Given the description of an element on the screen output the (x, y) to click on. 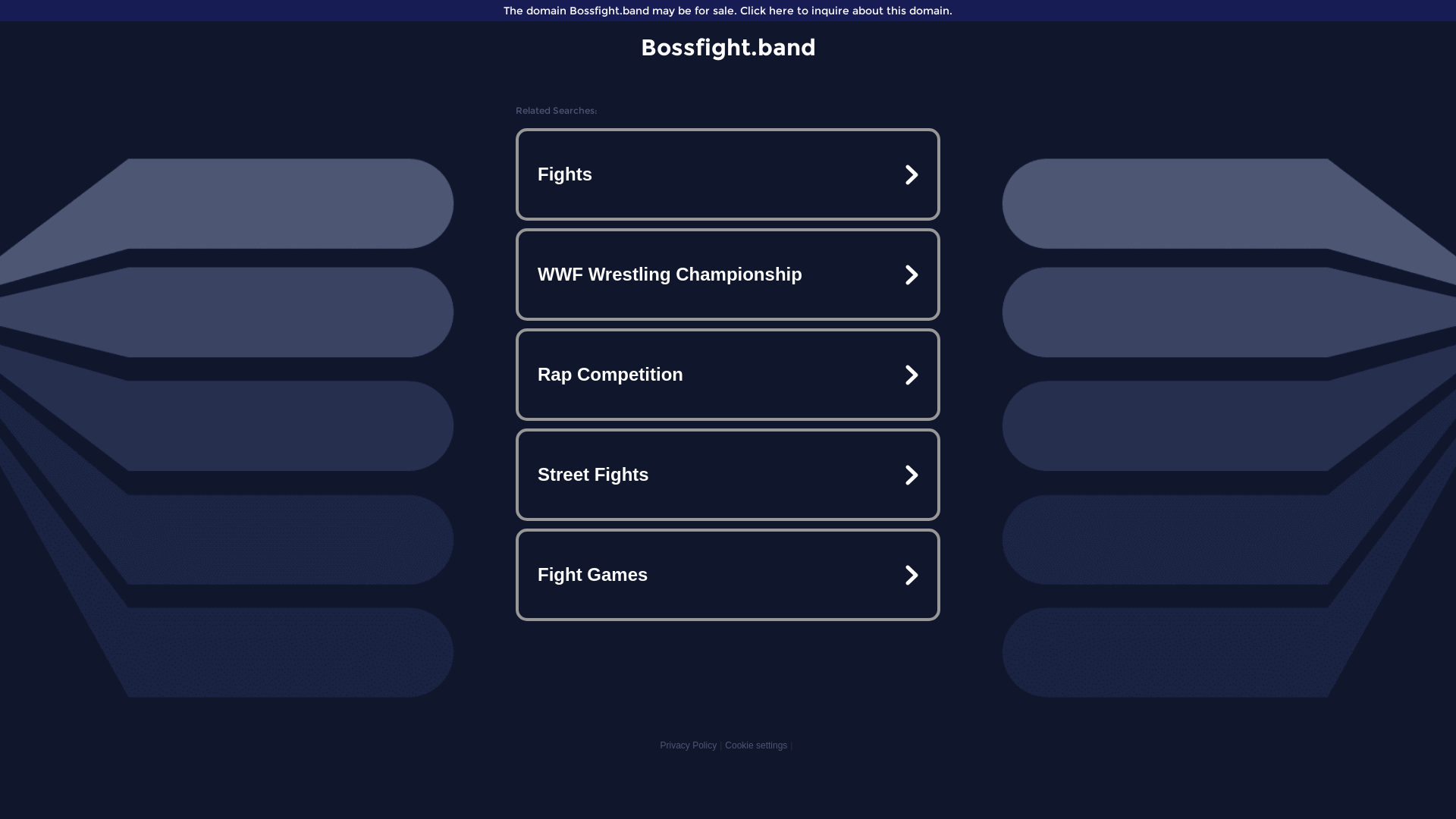
Rap Competition Element type: text (727, 374)
Fight Games Element type: text (727, 574)
Street Fights Element type: text (727, 474)
WWF Wrestling Championship Element type: text (727, 274)
Cookie settings Element type: text (755, 745)
Bossfight.band Element type: text (727, 47)
Fights Element type: text (727, 174)
Privacy Policy Element type: text (687, 745)
